Given the description of an element on the screen output the (x, y) to click on. 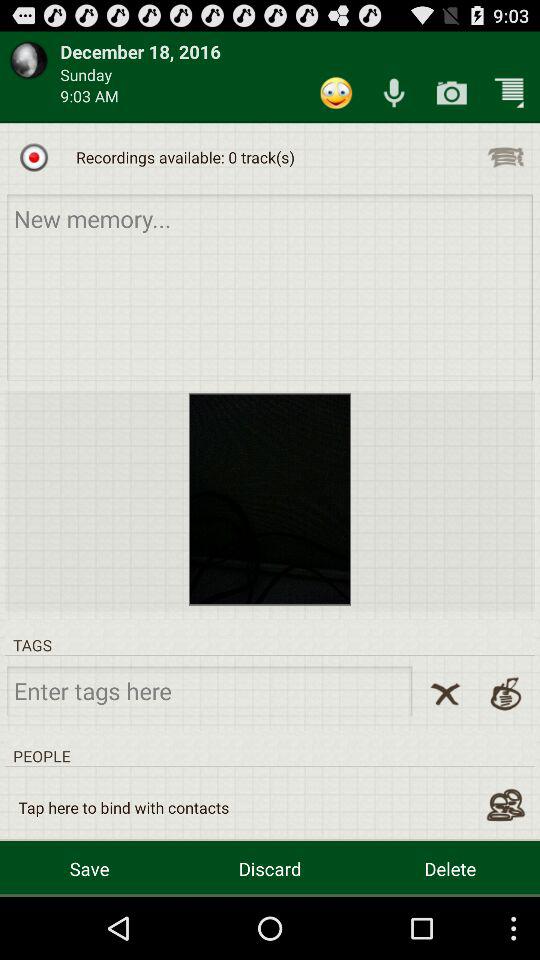
clear all tags (445, 694)
